Given the description of an element on the screen output the (x, y) to click on. 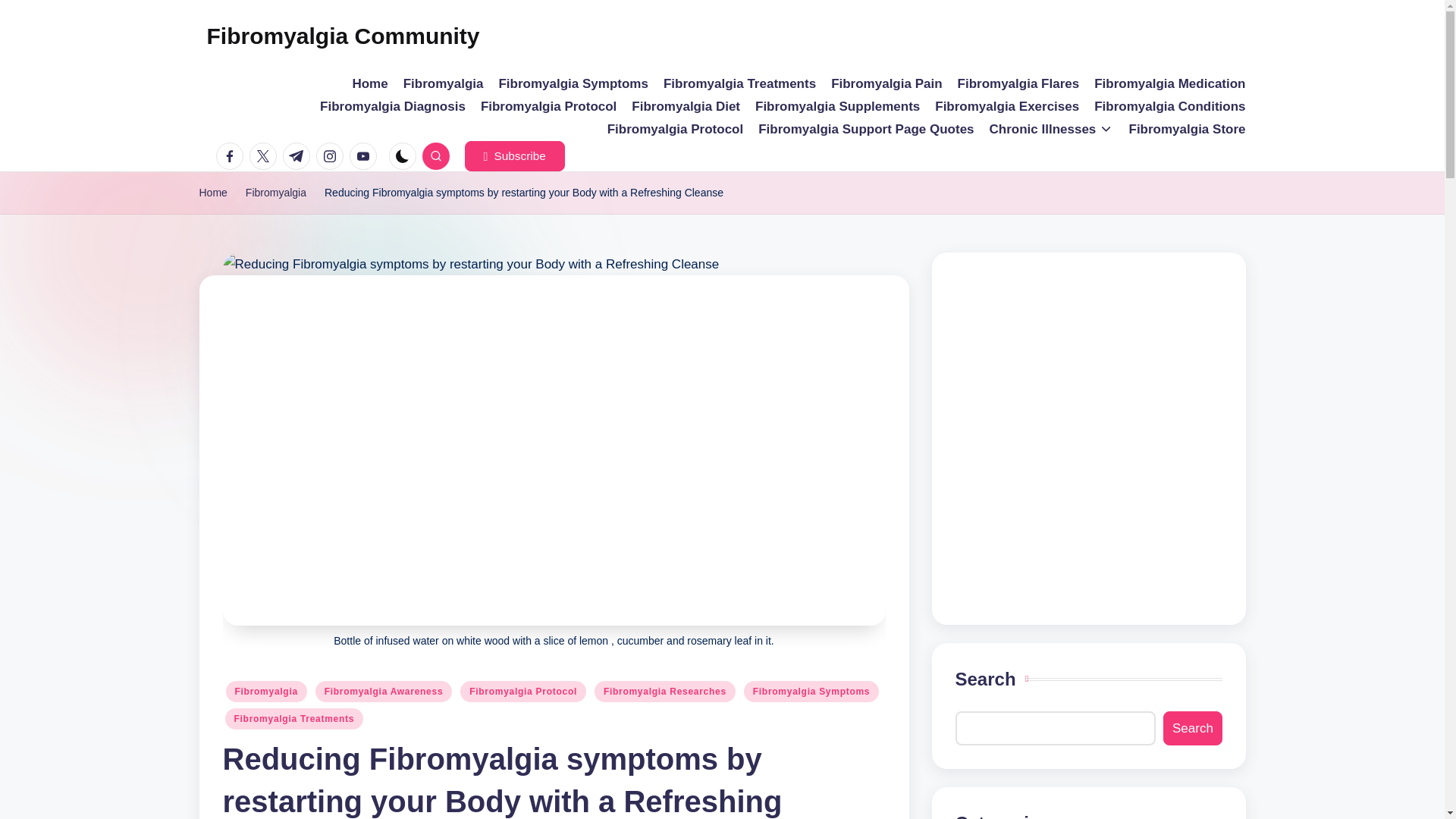
Chronic Illnesses (1051, 128)
Fibromyalgia Support Page Quotes (866, 128)
Fibromyalgia Store (1187, 128)
Fibromyalgia Treatments (739, 83)
Fibromyalgia (443, 83)
Fibromyalgia Protocol (547, 106)
t.me (298, 155)
Fibromyalgia (275, 192)
Subscribe (514, 155)
twitter.com (265, 155)
youtube.com (365, 155)
Home (212, 192)
Fibromyalgia Symptoms (572, 83)
facebook.com (231, 155)
Fibromyalgia Diagnosis (392, 106)
